Given the description of an element on the screen output the (x, y) to click on. 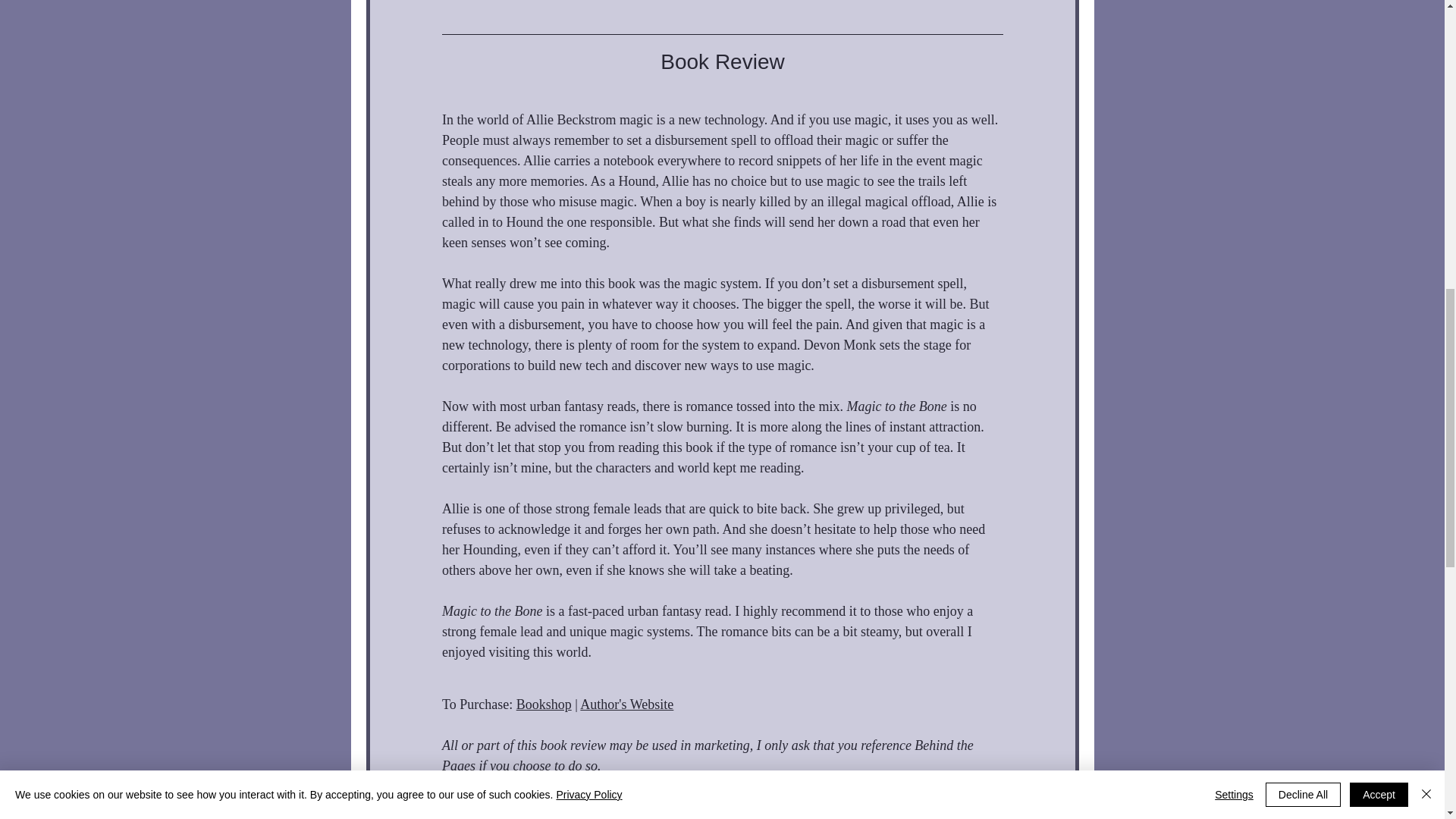
magic (607, 815)
fast paced (727, 815)
urban fantasy (876, 815)
romance (797, 815)
Bookshop (542, 703)
Author's Website (625, 703)
fantasy (551, 815)
action (662, 815)
book review (479, 815)
